Given the description of an element on the screen output the (x, y) to click on. 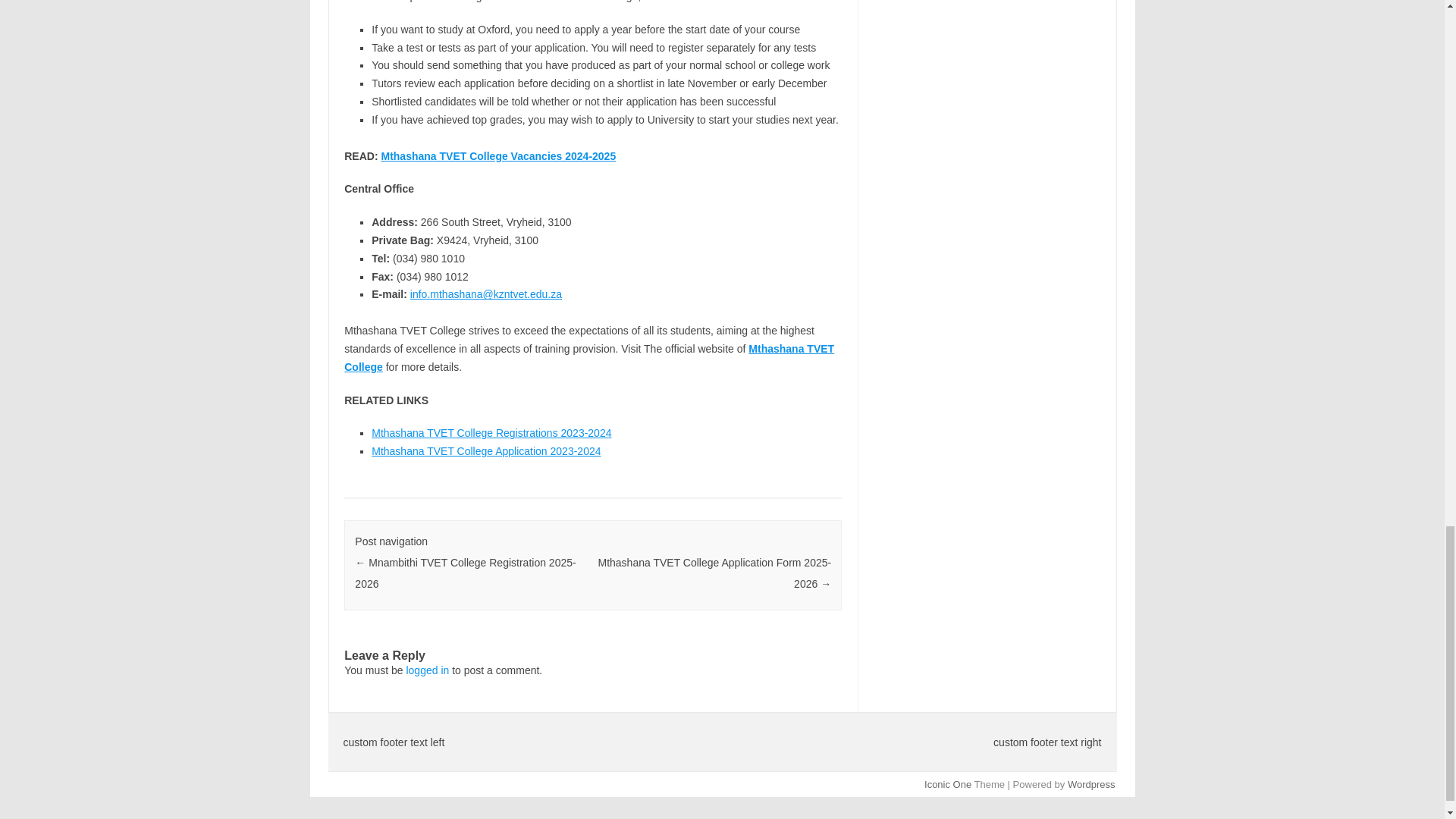
Wordpress (1091, 784)
Mthashana TVET College Registrations 2023-2024 (491, 432)
Iconic One (947, 784)
logged in (427, 670)
Mthashana TVET College (588, 358)
Mthashana TVET College Vacancies 2024-2025 (497, 155)
Mthashana TVET College Application 2023-2024 (485, 451)
